Given the description of an element on the screen output the (x, y) to click on. 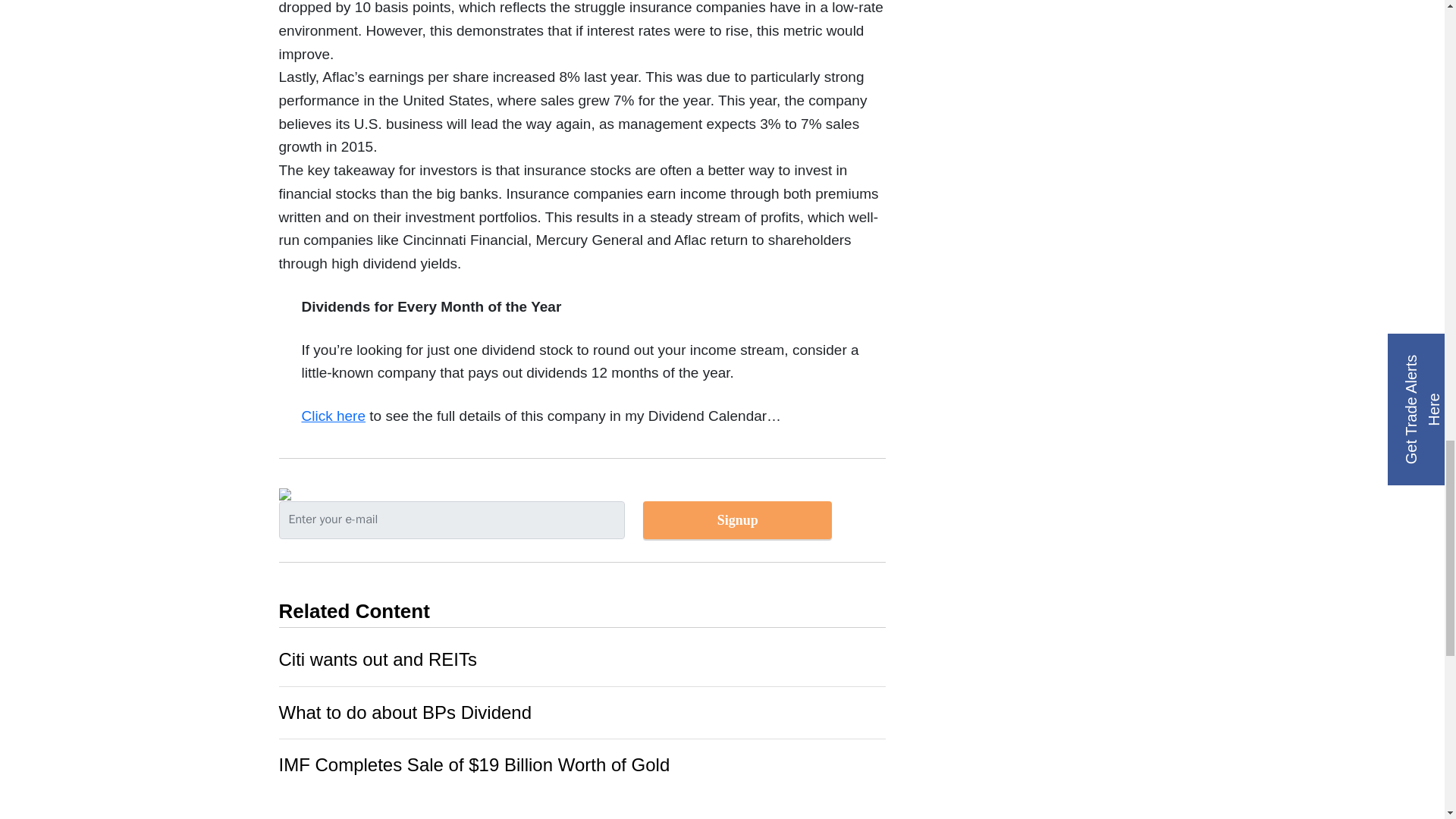
Citi wants out and REITs (378, 659)
Signup (737, 519)
Click here (333, 415)
What to do about BPs Dividend (405, 711)
